Given the description of an element on the screen output the (x, y) to click on. 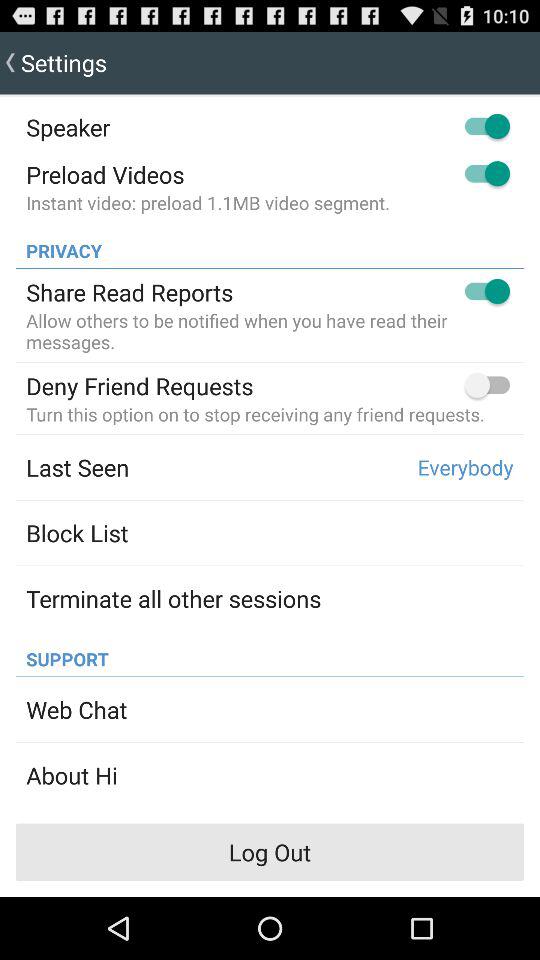
press the item above the allow others to item (129, 292)
